Given the description of an element on the screen output the (x, y) to click on. 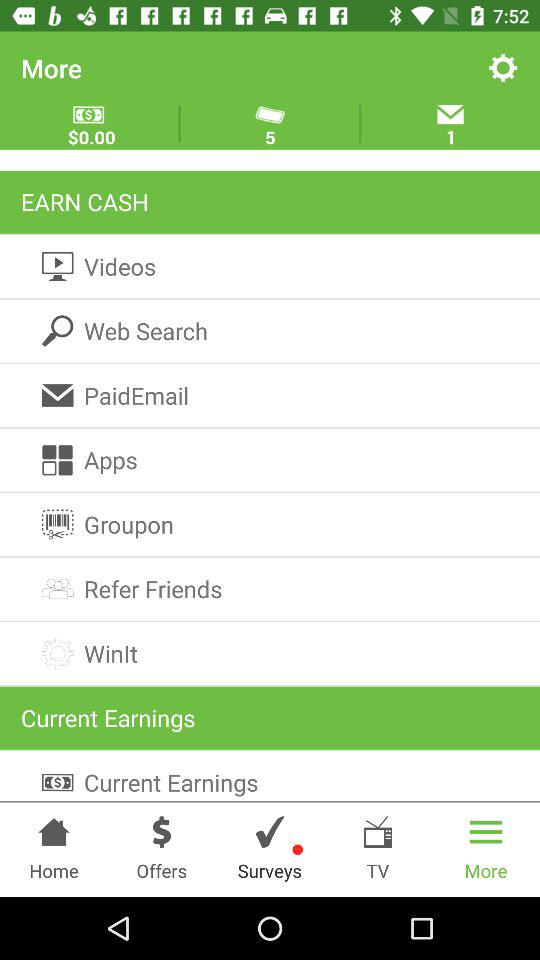
select item above videos item (270, 201)
